Given the description of an element on the screen output the (x, y) to click on. 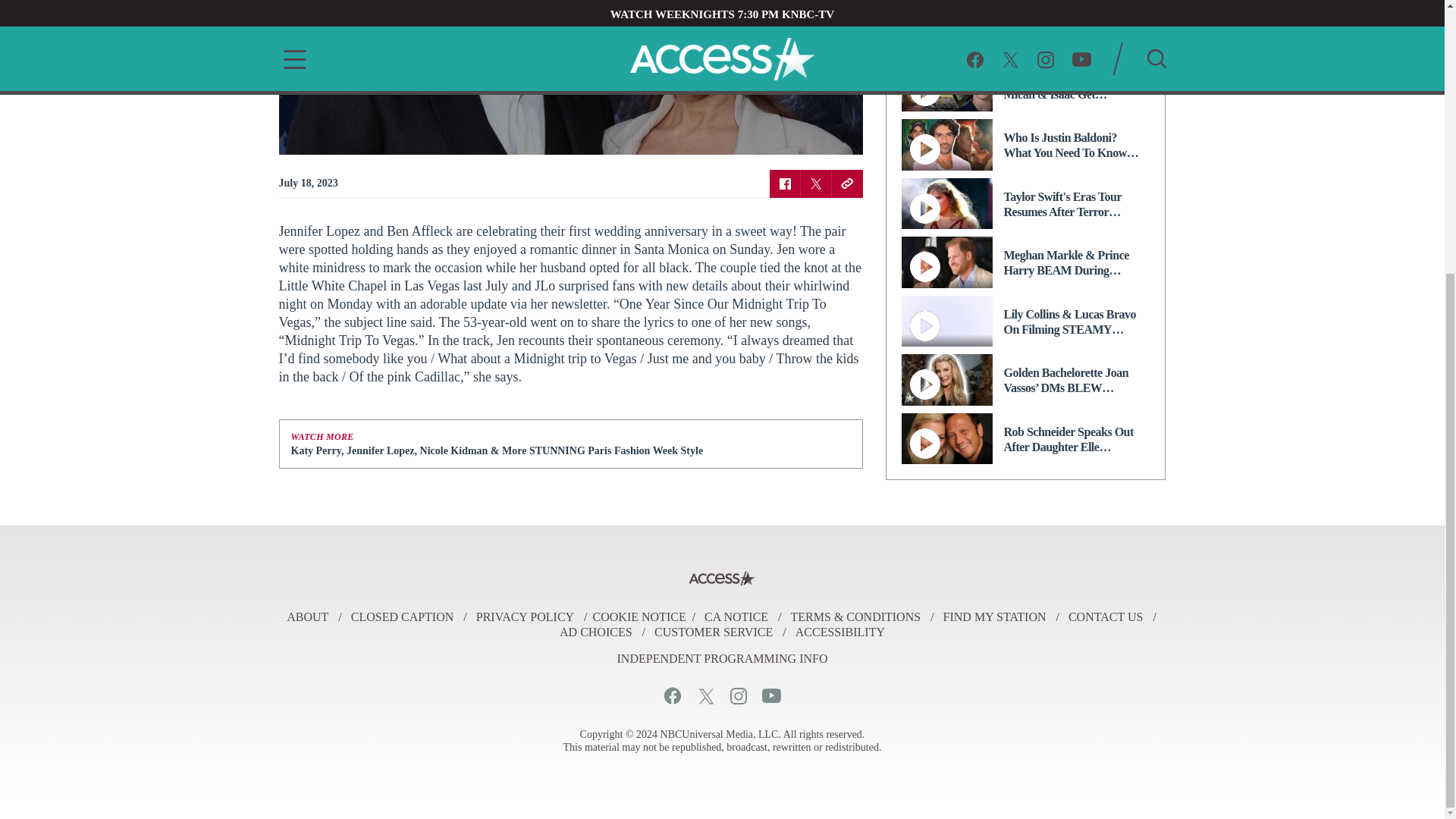
Instagram (737, 695)
Twitter (815, 182)
Twitter (704, 695)
Copy URL (846, 182)
Facebook (671, 695)
Facebook (783, 182)
Youtube (770, 695)
